Given the description of an element on the screen output the (x, y) to click on. 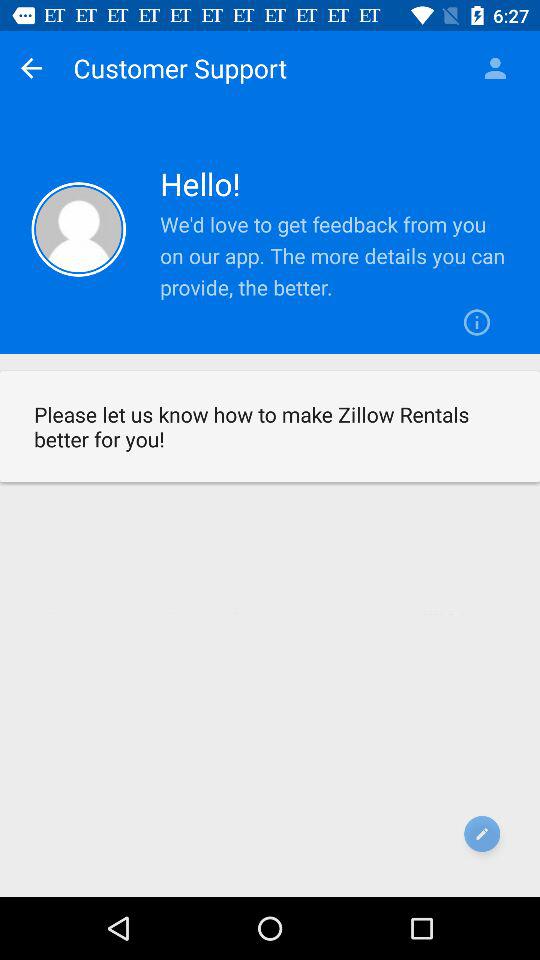
select the image icon on the left side of text hello (78, 229)
click on information symbol (477, 322)
